Given the description of an element on the screen output the (x, y) to click on. 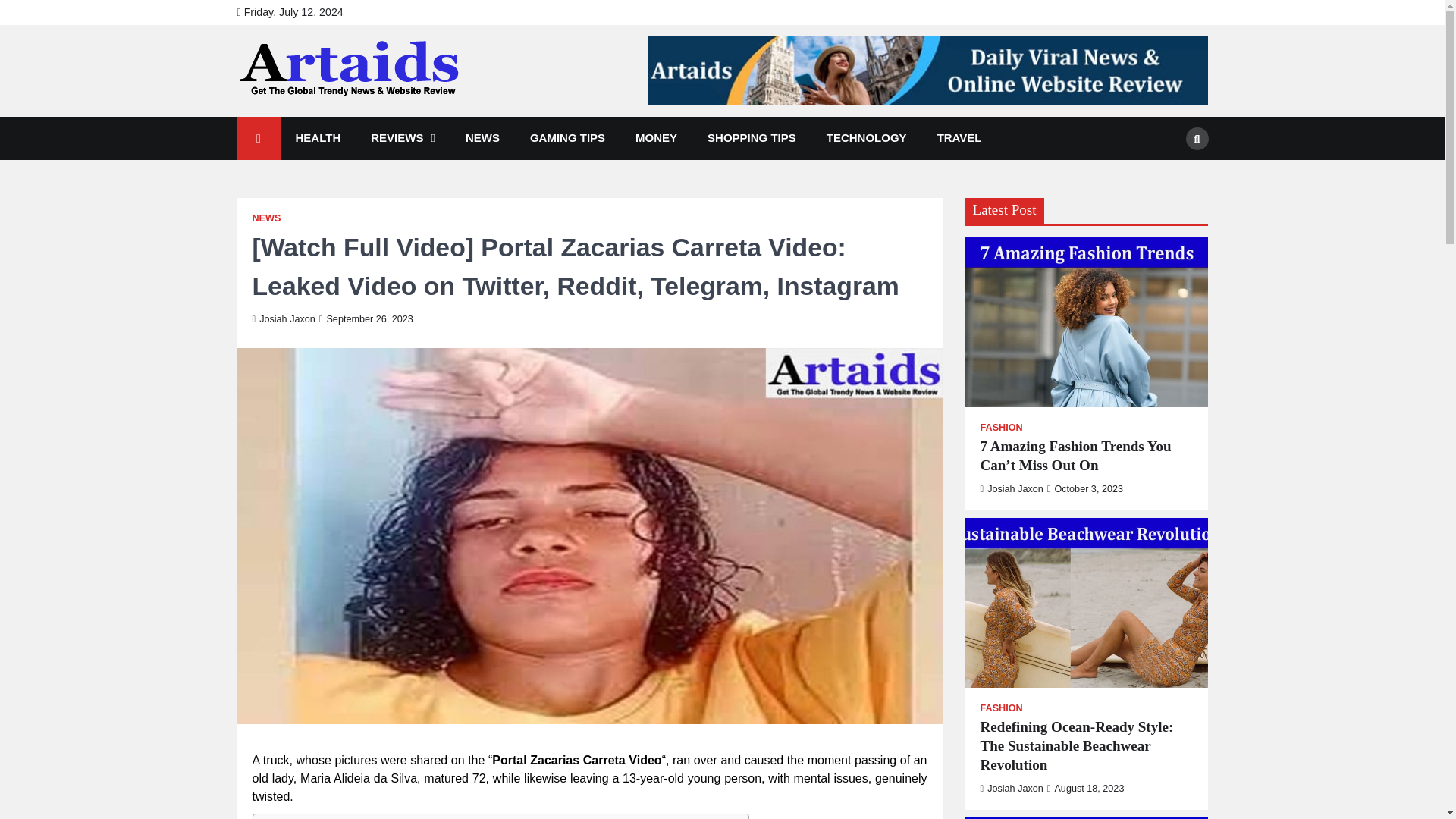
Search (1168, 174)
NEWS (266, 218)
SHOPPING TIPS (751, 138)
Josiah Jaxon (1010, 787)
GAMING TIPS (567, 138)
Search (1197, 138)
REVIEWS (402, 138)
October 3, 2023 (1084, 489)
TRAVEL (959, 138)
FASHION (1000, 708)
MONEY (656, 138)
NEWS (482, 138)
Josiah Jaxon (282, 318)
TECHNOLOGY (865, 138)
